Given the description of an element on the screen output the (x, y) to click on. 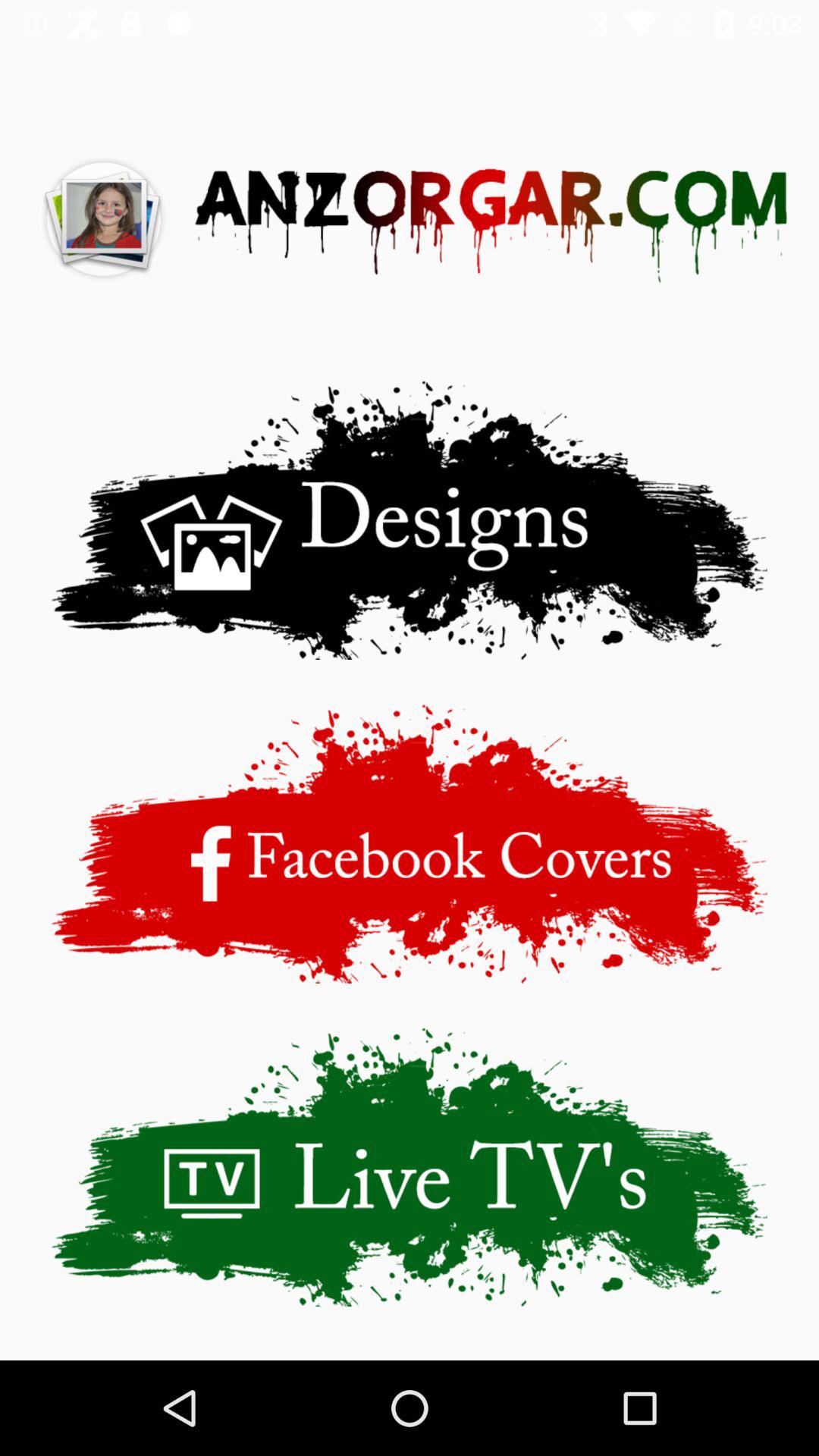
hyperlinks to facebook covers (409, 843)
